Given the description of an element on the screen output the (x, y) to click on. 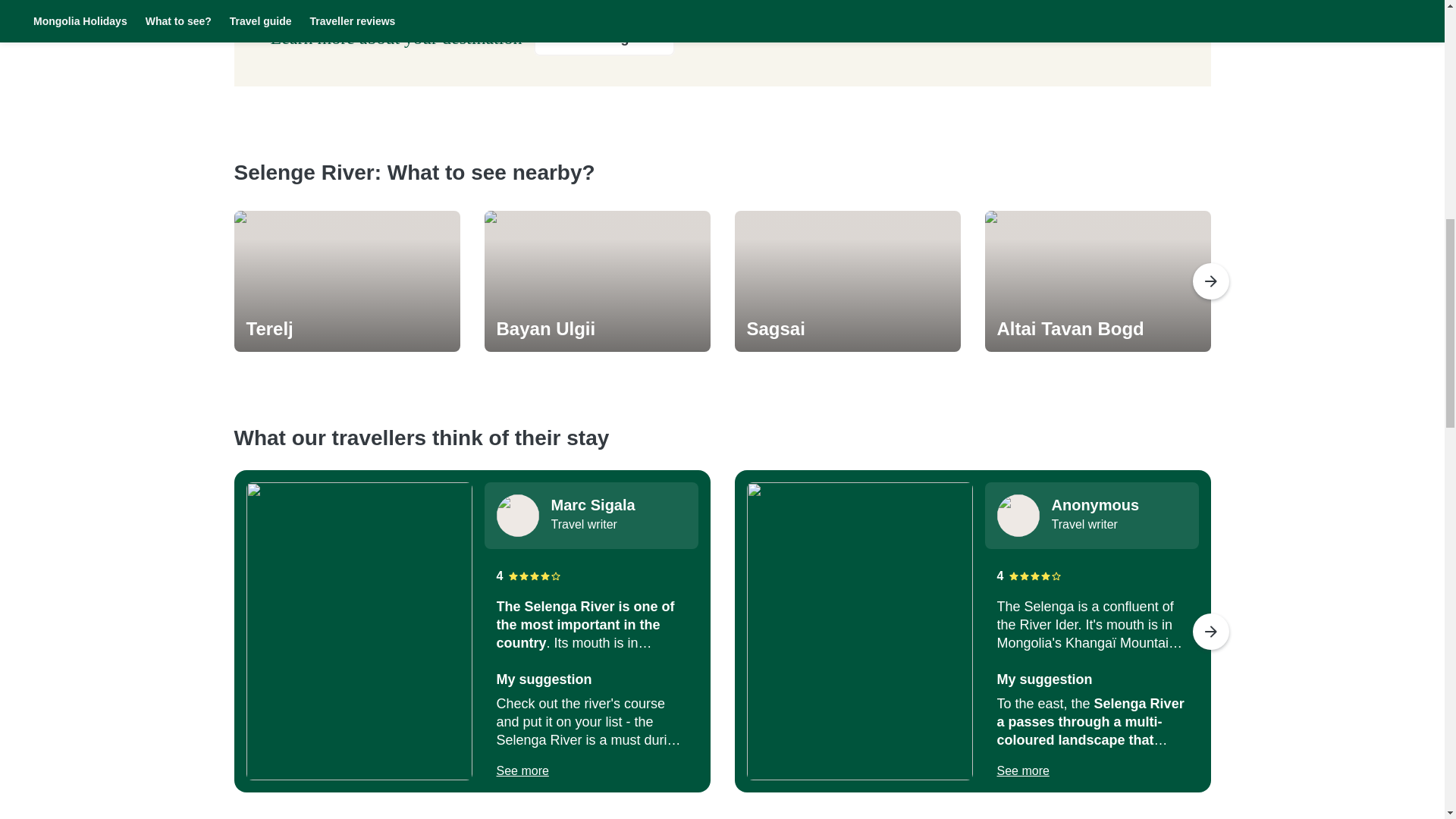
See more (1021, 771)
Altai Tavan Bogd (1096, 328)
See travel guide (604, 37)
Terelj (346, 328)
Sagsai (846, 328)
Bayan Ulgii (596, 328)
See more (522, 771)
